Given the description of an element on the screen output the (x, y) to click on. 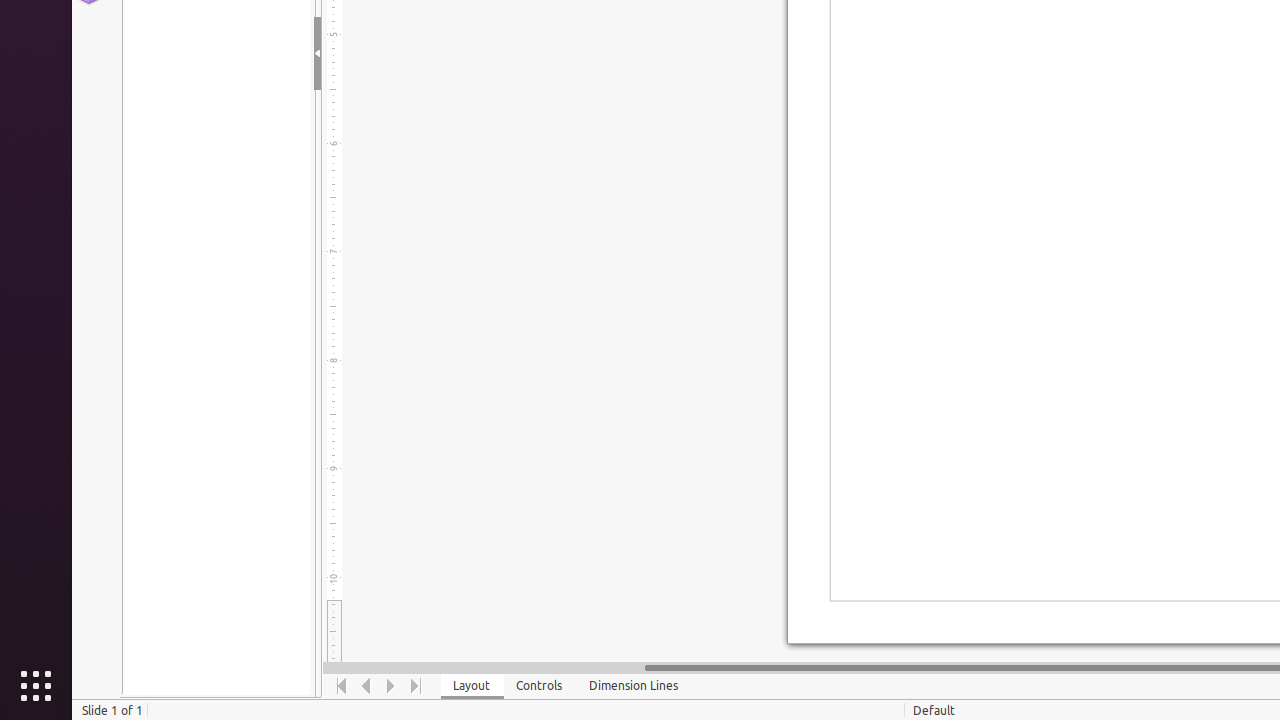
Move Left Element type: push-button (366, 686)
Move Right Element type: push-button (391, 686)
Layout Element type: page-tab (472, 686)
Move To End Element type: push-button (416, 686)
Move To Home Element type: push-button (341, 686)
